Given the description of an element on the screen output the (x, y) to click on. 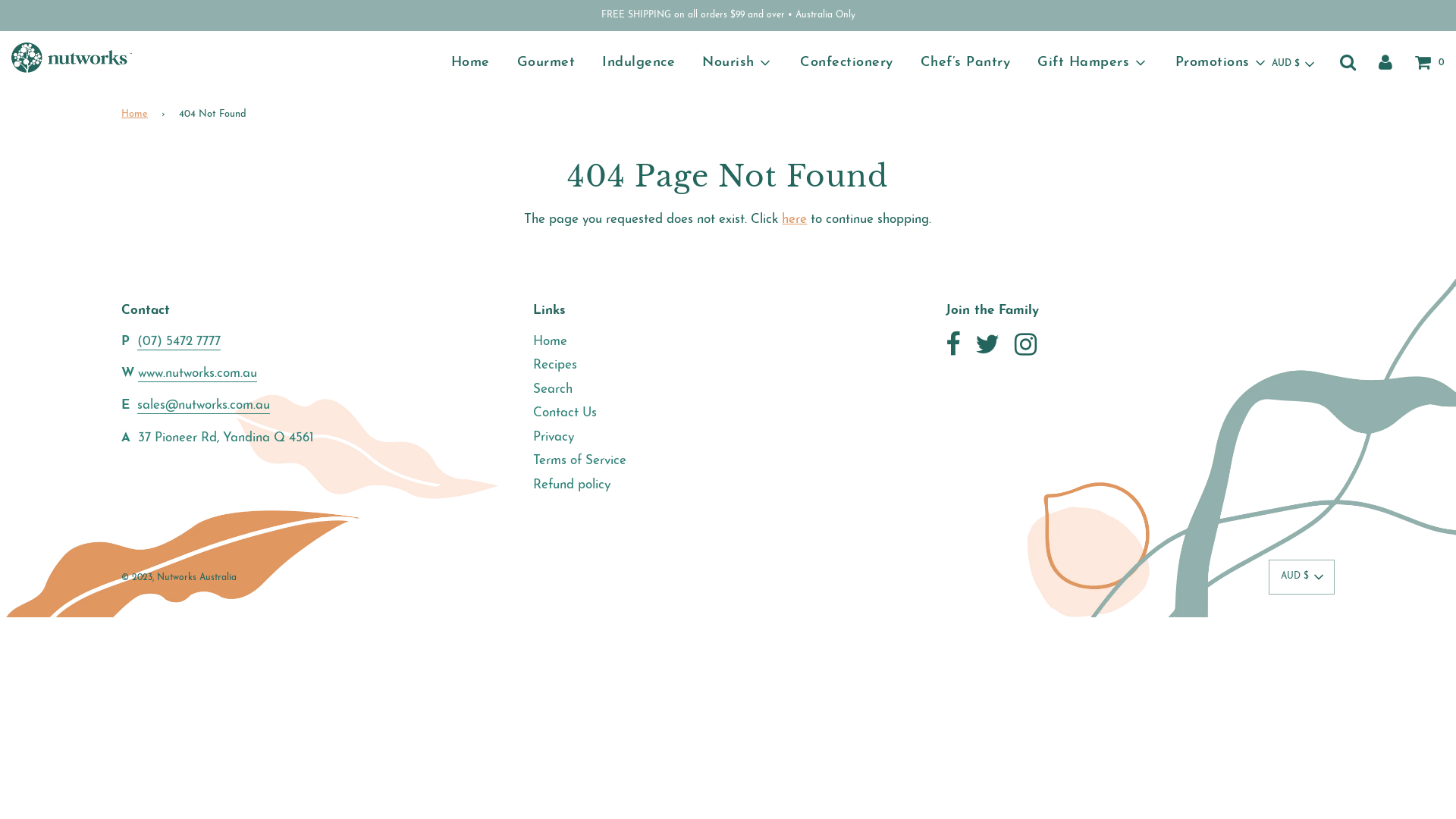
Home Element type: text (550, 341)
AUD $ Element type: text (1301, 576)
Confectionery Element type: text (846, 62)
AUD $ Element type: text (1292, 64)
0 Element type: text (1429, 62)
www.nutworks.com.au Element type: text (197, 374)
here Element type: text (793, 219)
Gourmet Element type: text (545, 62)
(07) 5472 7777 Element type: text (178, 342)
sales@nutworks.com.au Element type: text (203, 406)
Home Element type: text (137, 114)
Privacy Element type: text (553, 436)
Search Element type: text (552, 388)
Home Element type: text (470, 62)
Nourish Element type: text (737, 62)
Log in Element type: hover (1385, 62)
Promotions Element type: text (1221, 62)
Terms of Service Element type: text (579, 460)
Contact Us Element type: text (564, 412)
Refund policy Element type: text (571, 484)
Recipes Element type: text (555, 364)
Gift Hampers Element type: text (1092, 62)
Indulgence Element type: text (638, 62)
